Given the description of an element on the screen output the (x, y) to click on. 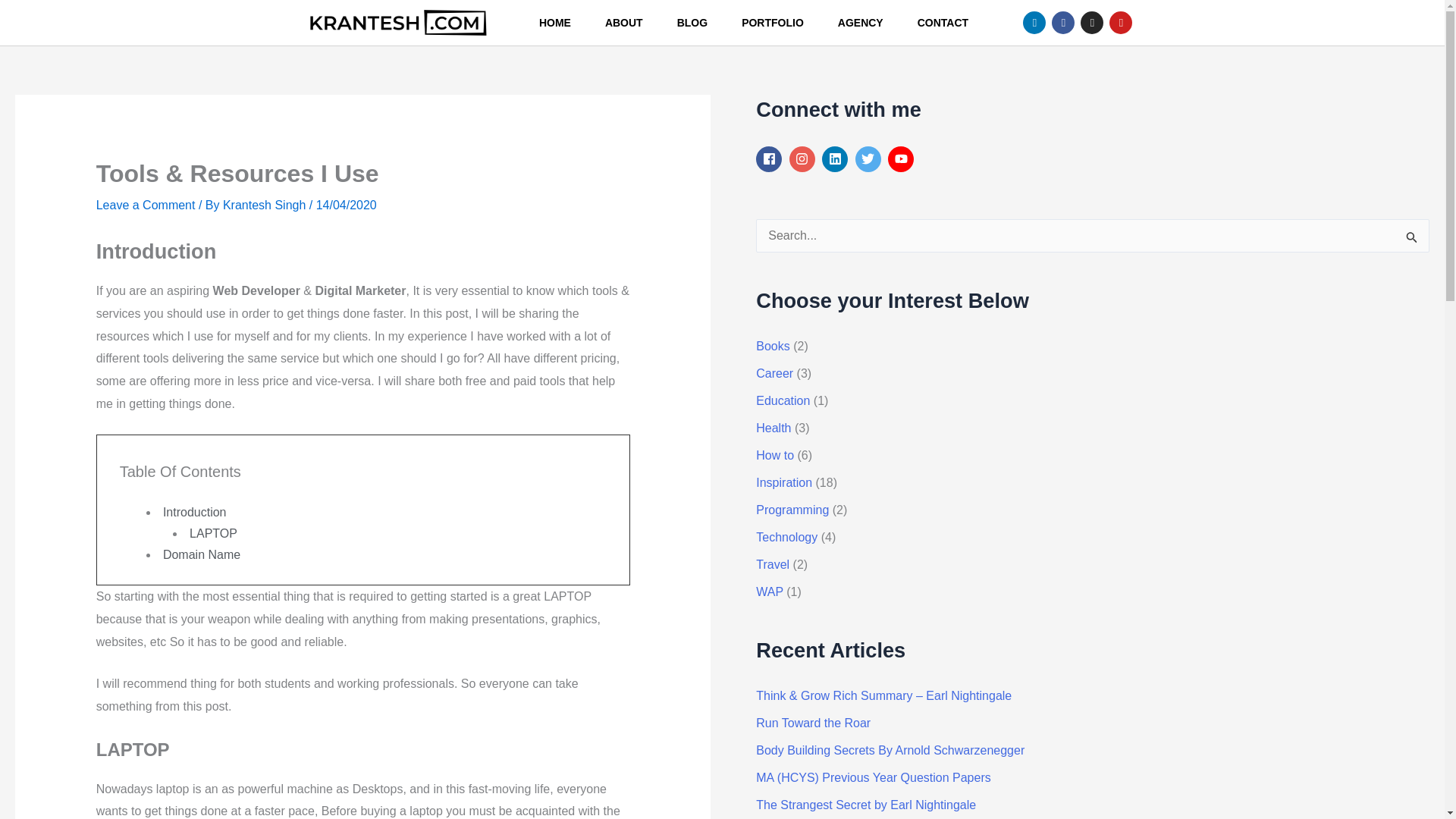
Inspiration (783, 481)
AGENCY (860, 22)
PORTFOLIO (772, 22)
ABOUT (623, 22)
Youtube (1120, 22)
Search (1411, 240)
View all posts by Krantesh Singh (265, 205)
Career (774, 373)
Domain Name (201, 554)
Programming (791, 509)
Health (772, 427)
Books (772, 345)
LAPTOP (213, 533)
